Given the description of an element on the screen output the (x, y) to click on. 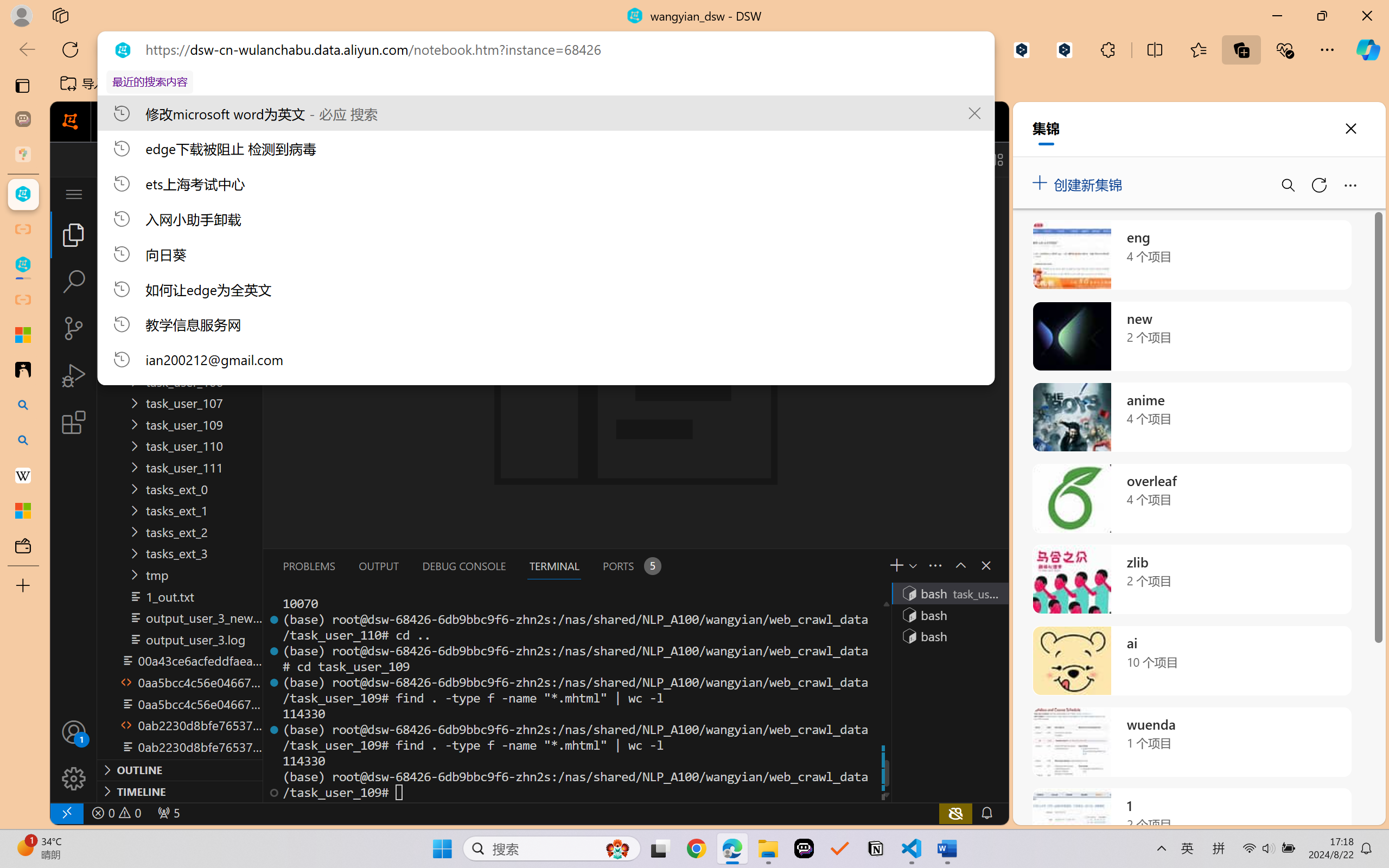
icon (930, 121)
Run and Debug (Ctrl+Shift+D) (73, 375)
Notifications (986, 812)
Terminal 3 bash (949, 635)
Launch Profile... (911, 565)
Terminal 2 bash (949, 614)
Explorer actions (211, 194)
